Given the description of an element on the screen output the (x, y) to click on. 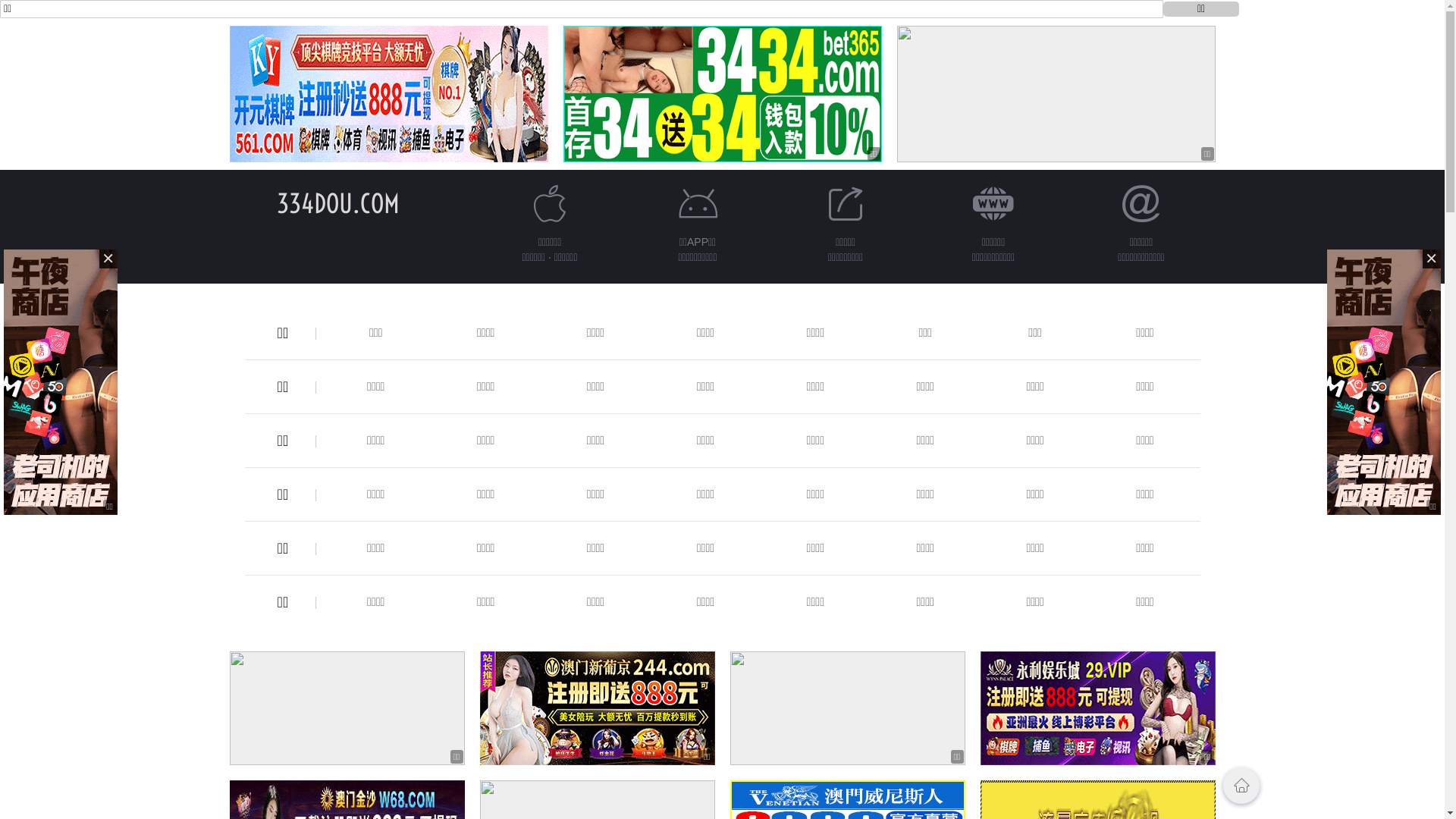
334DOU.COM Element type: text (337, 203)
